Given the description of an element on the screen output the (x, y) to click on. 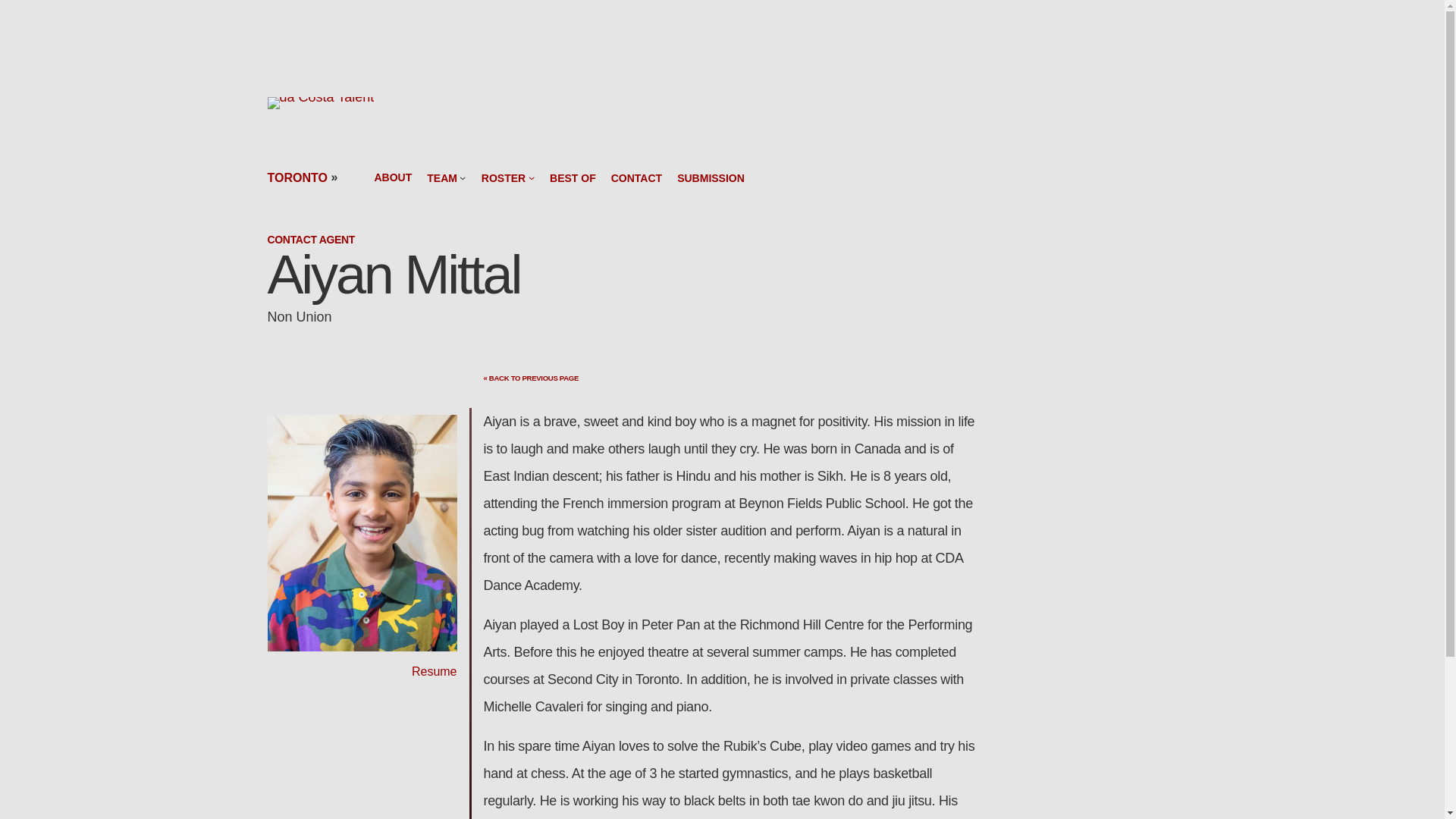
Resume (434, 671)
CONTACT (636, 177)
ABOUT (393, 177)
ROSTER (503, 177)
TORONTO (296, 177)
CONTACT AGENT (310, 239)
BEST OF (572, 177)
SUBMISSION (710, 177)
TEAM (441, 177)
